Given the description of an element on the screen output the (x, y) to click on. 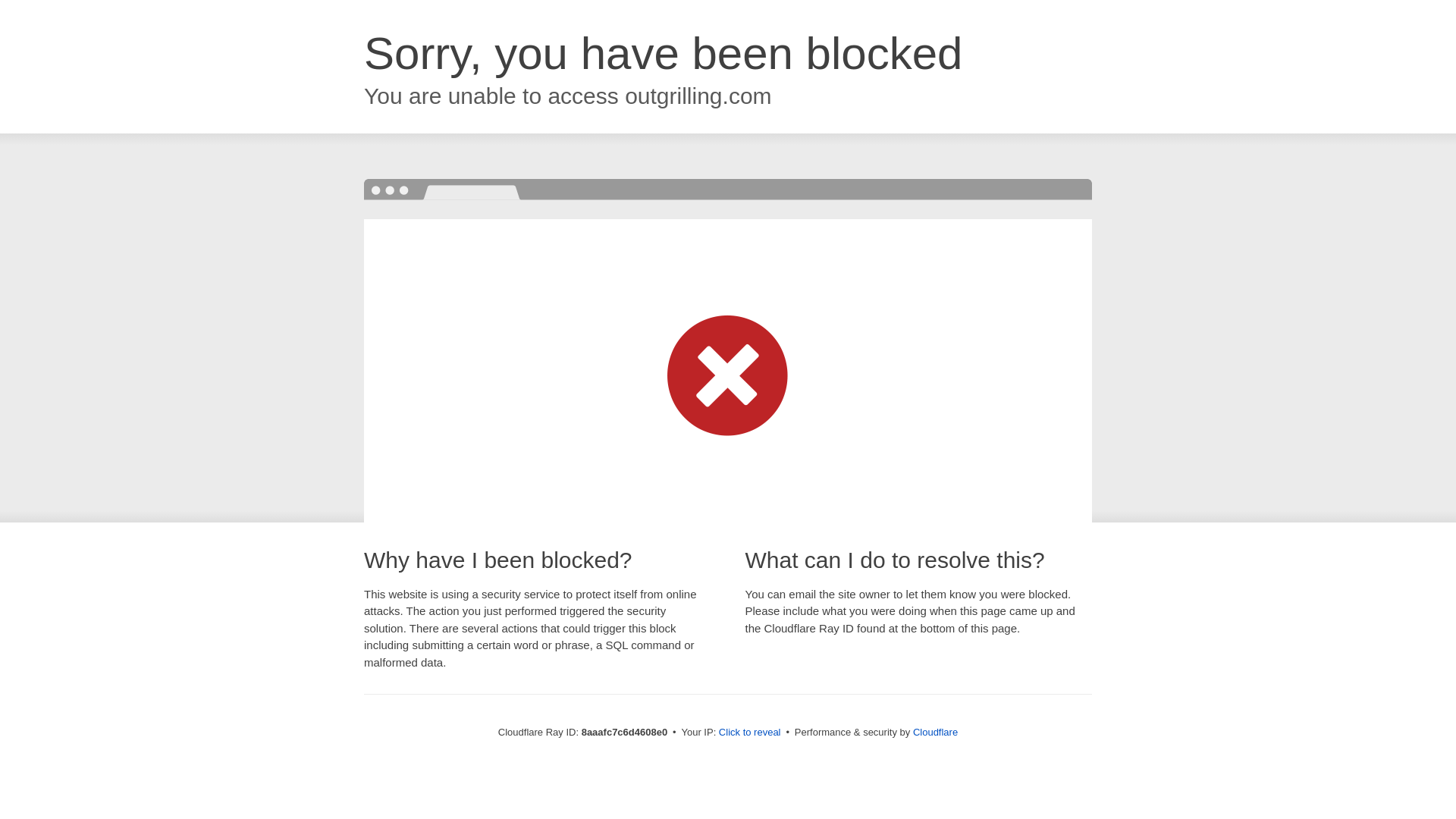
Cloudflare (935, 731)
Click to reveal (749, 732)
